Given the description of an element on the screen output the (x, y) to click on. 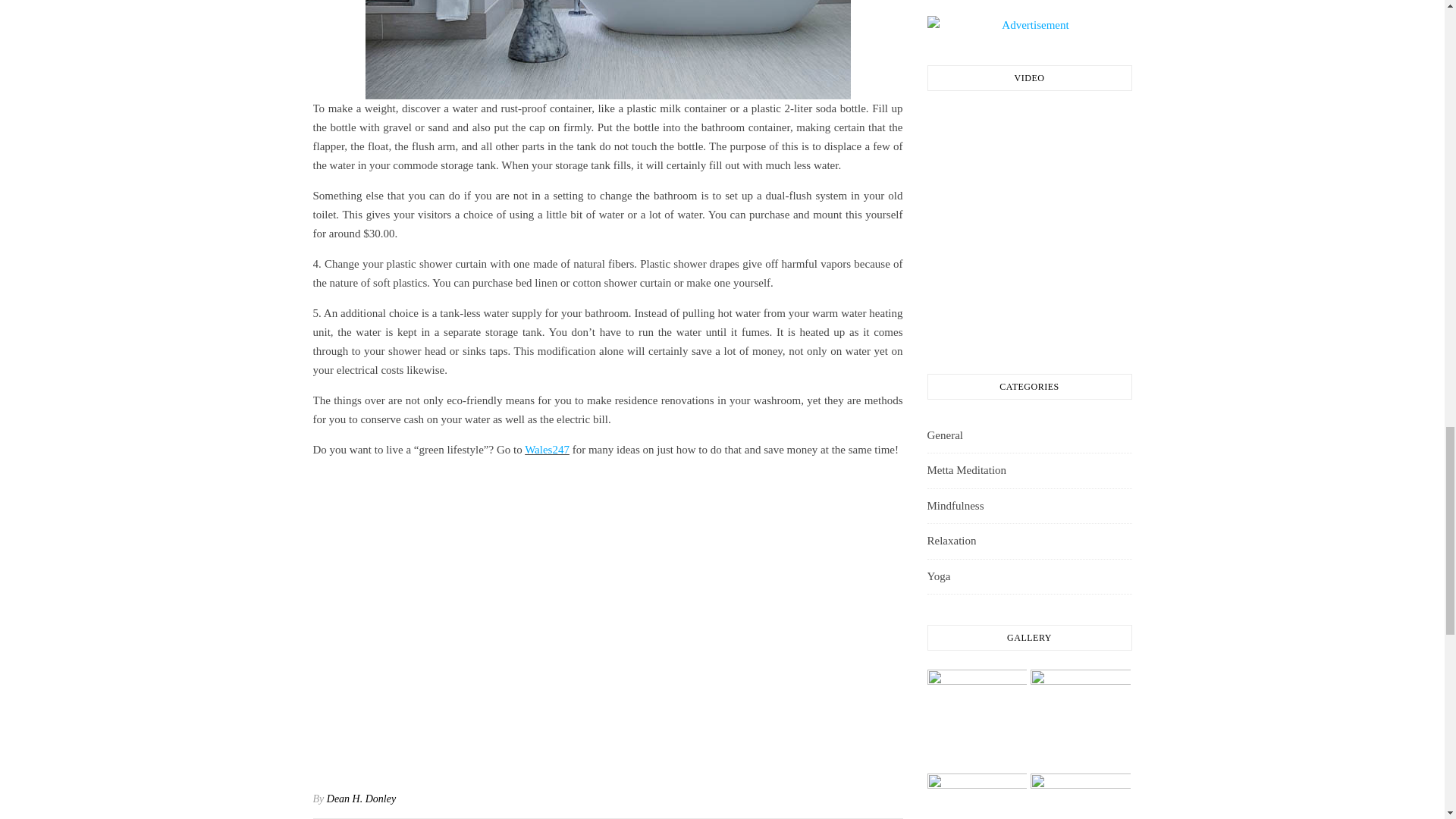
Posts by Dean H. Donley (361, 798)
Dean H. Donley (361, 798)
Wales247 (546, 449)
